Given the description of an element on the screen output the (x, y) to click on. 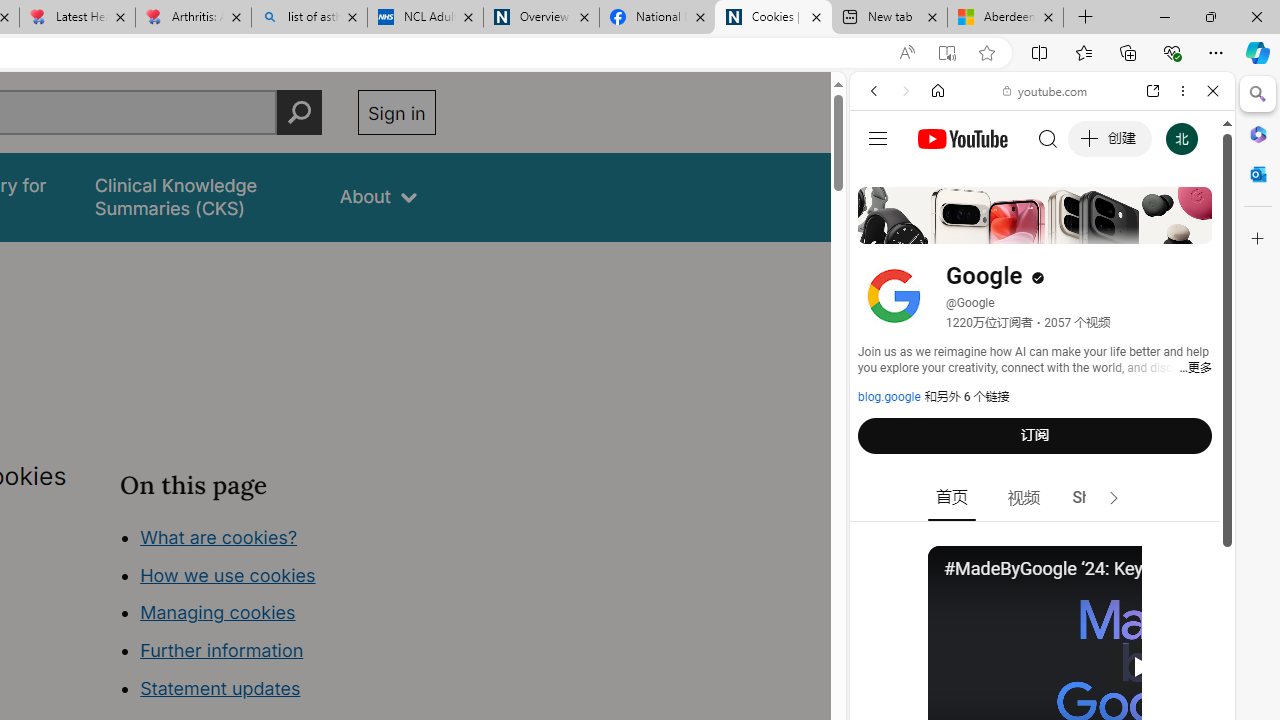
Perform search (299, 112)
Open link in new tab (1153, 91)
SEARCH TOOLS (1093, 228)
Forward (906, 91)
Statement updates (219, 688)
Search the web (1051, 137)
blog.google (889, 397)
Close Customize pane (1258, 239)
Aberdeen, Hong Kong SAR hourly forecast | Microsoft Weather (1005, 17)
What are cookies? (218, 536)
